Given the description of an element on the screen output the (x, y) to click on. 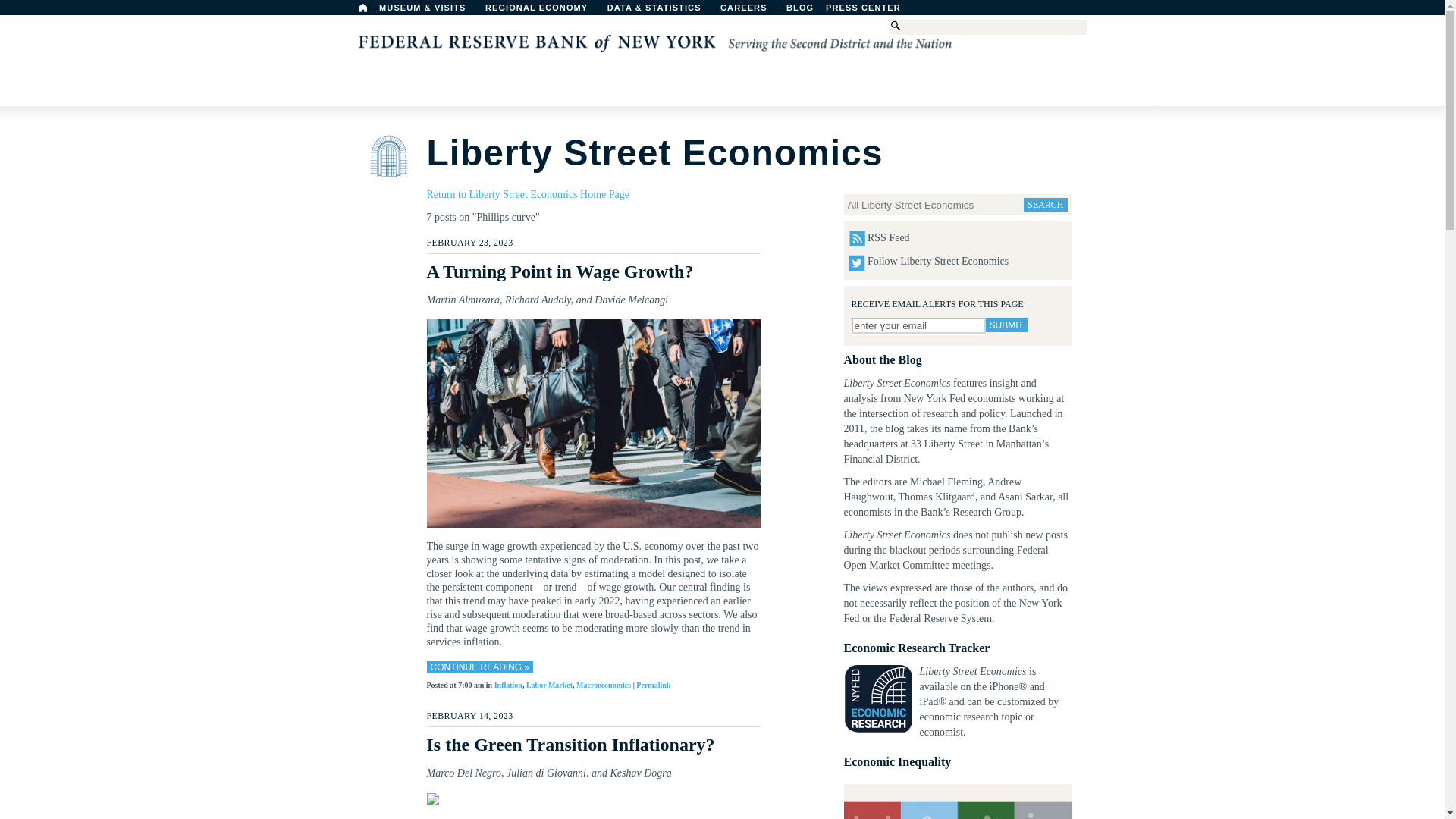
PRESS CENTER (870, 11)
Home (362, 8)
BLOG (839, 11)
enter your email (917, 325)
Submit (1006, 325)
CAREERS (751, 11)
REGIONAL ECONOMY (543, 11)
